Given the description of an element on the screen output the (x, y) to click on. 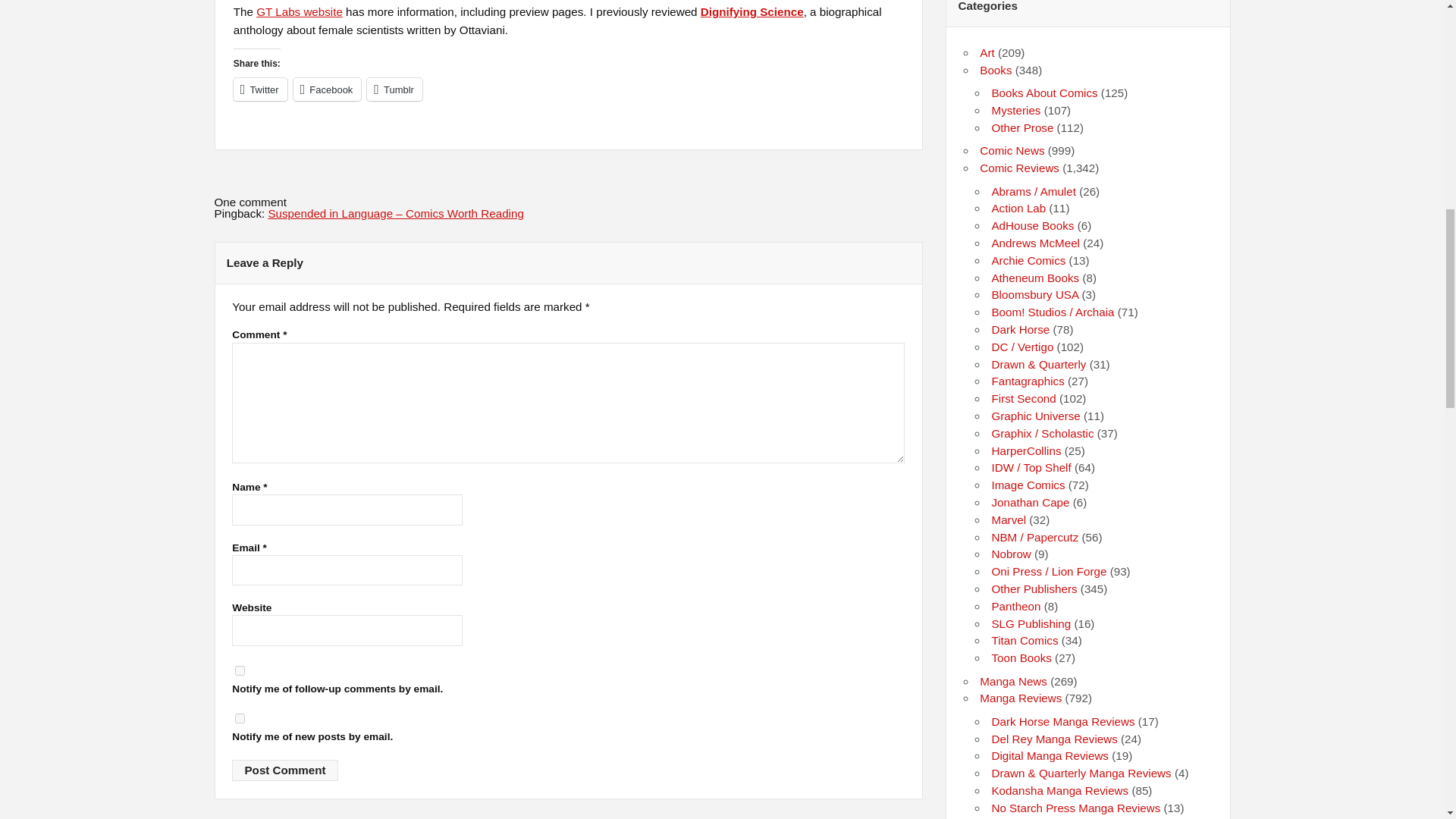
Click to share on Facebook (327, 88)
GT Labs website (299, 11)
Tumblr (394, 88)
subscribe (239, 718)
subscribe (239, 670)
Post Comment (284, 770)
Post Comment (284, 770)
Facebook (327, 88)
Dignifying Science (751, 11)
Click to share on Twitter (259, 88)
